Given the description of an element on the screen output the (x, y) to click on. 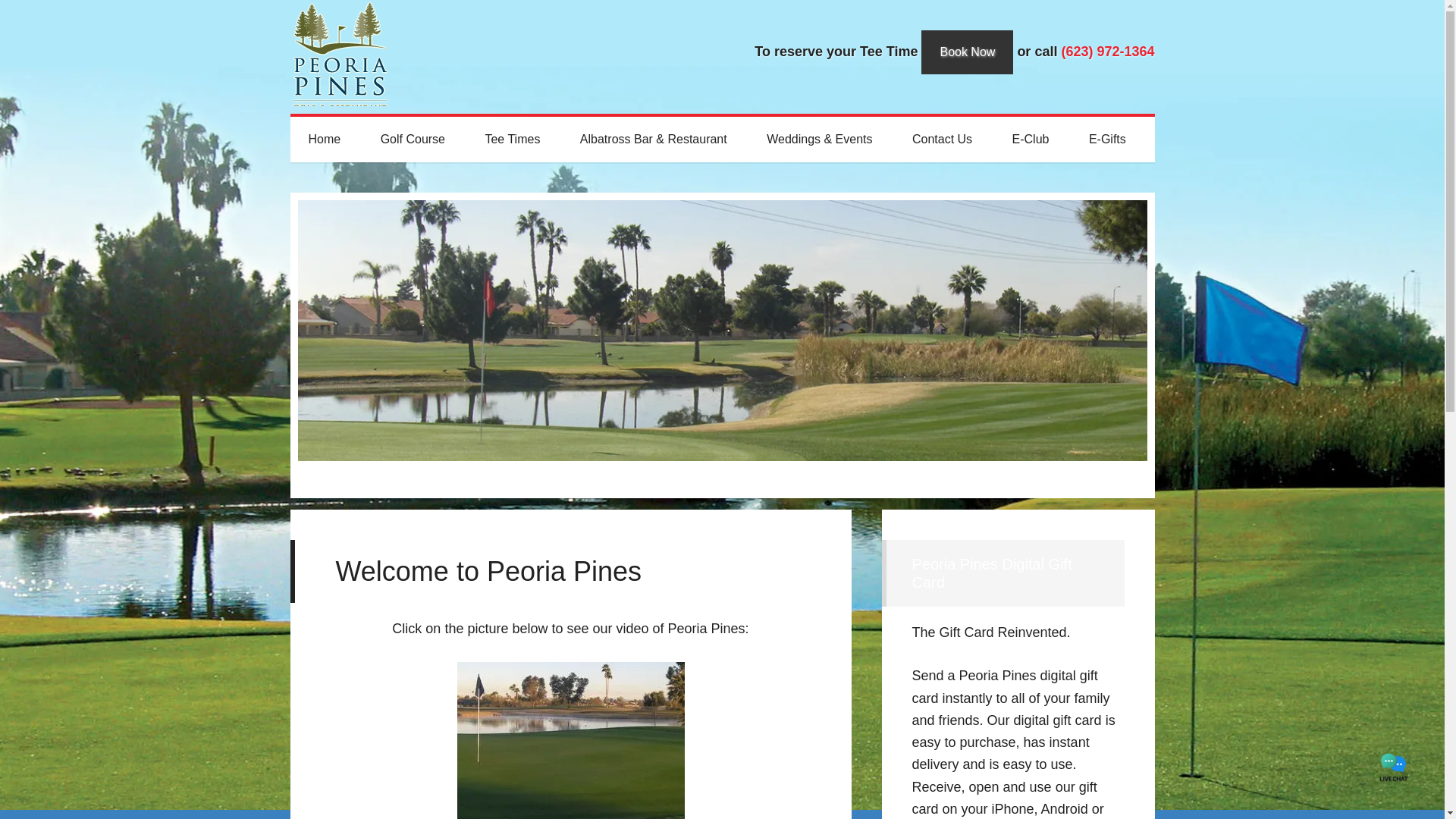
Tee Times (511, 139)
Prev (1109, 477)
Home (323, 139)
Next (1135, 477)
E-Club (1030, 139)
Contact Us (941, 139)
Golf Course (412, 139)
E-Gifts (1107, 139)
1 (301, 471)
Book Now (967, 52)
